Given the description of an element on the screen output the (x, y) to click on. 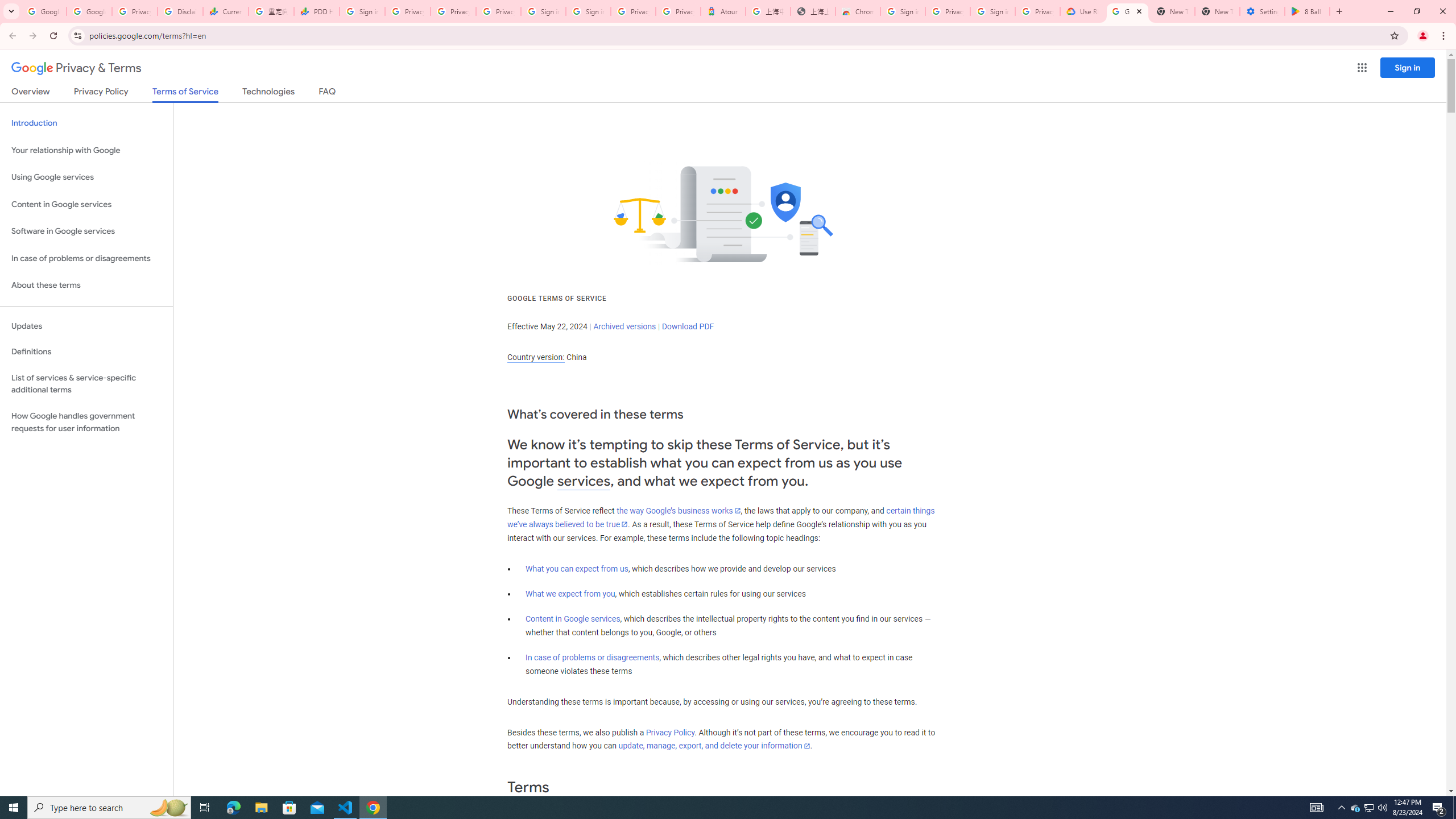
Currencies - Google Finance (225, 11)
Software in Google services (86, 230)
How Google handles government requests for user information (86, 422)
What we expect from you (570, 593)
